Given the description of an element on the screen output the (x, y) to click on. 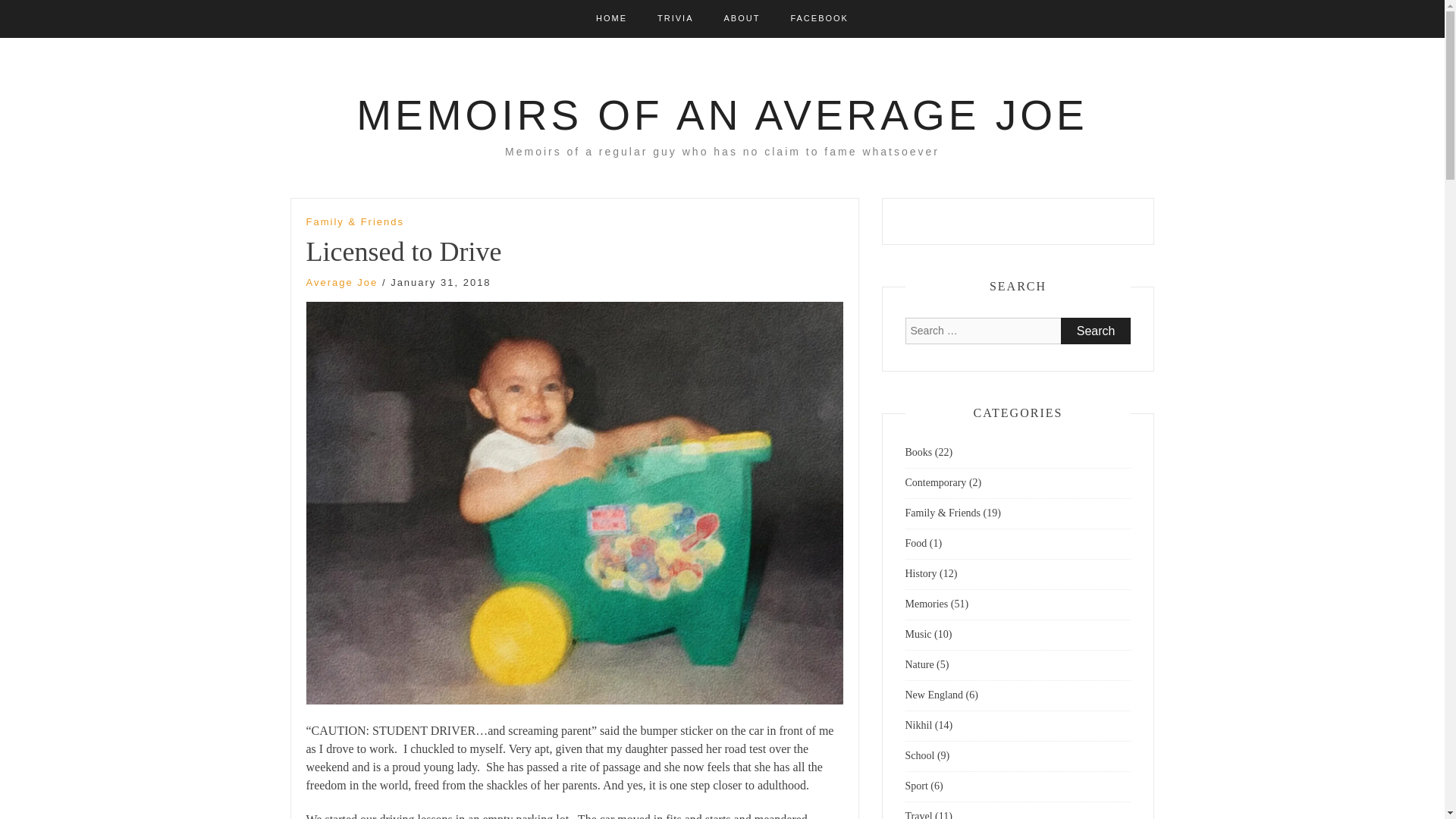
Sport (916, 785)
Average Joe (341, 282)
MEMOIRS OF AN AVERAGE JOE (721, 114)
History (921, 573)
Search (1096, 330)
Music (918, 633)
ABOUT (741, 18)
Food (916, 542)
Nature (919, 664)
Search (1096, 330)
New England (934, 695)
Nikhil (919, 725)
Books (919, 451)
Travel (919, 814)
Contemporary (935, 482)
